Given the description of an element on the screen output the (x, y) to click on. 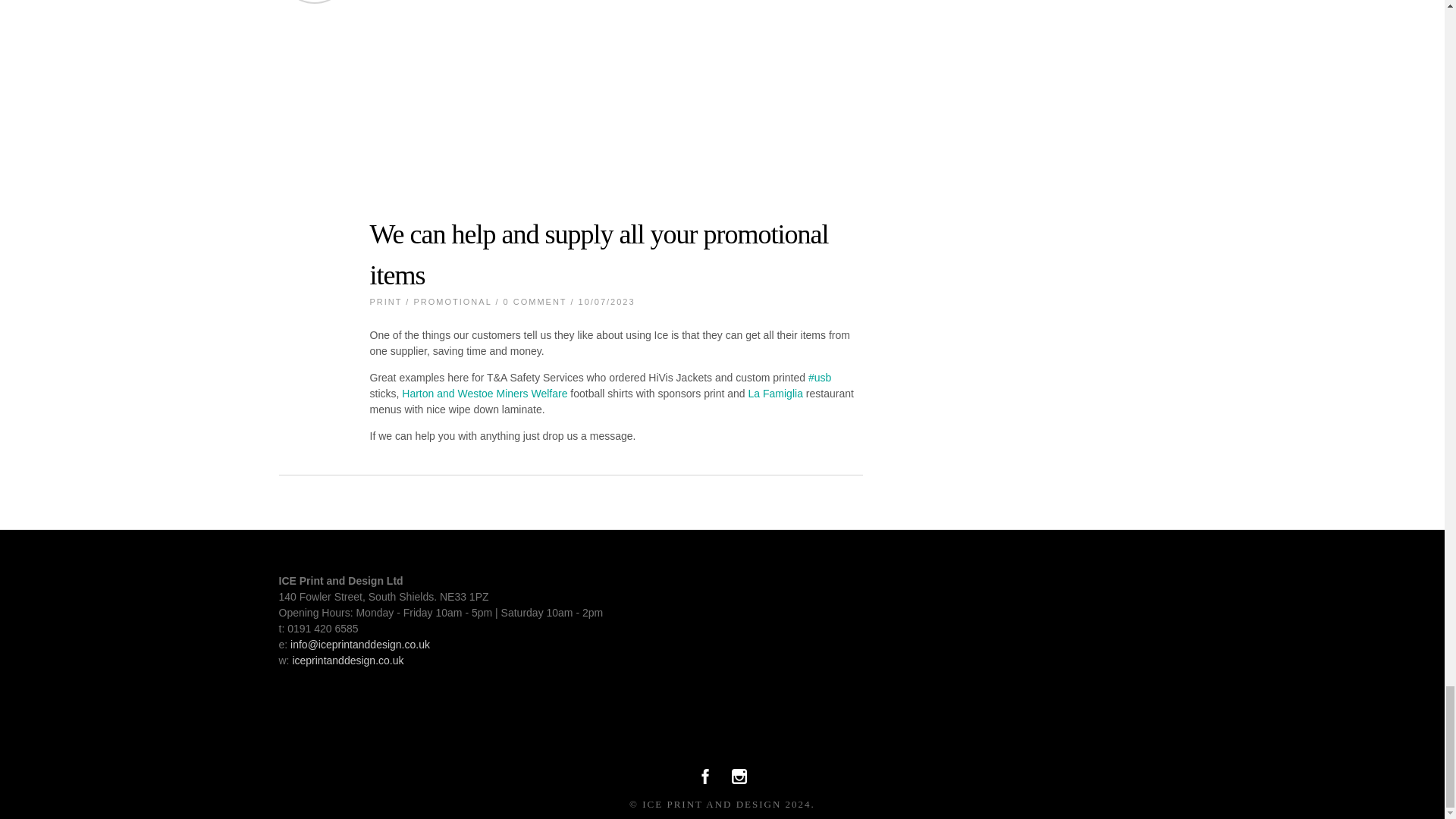
We can help and supply all your promotional items (598, 254)
Instagram (739, 780)
